Given the description of an element on the screen output the (x, y) to click on. 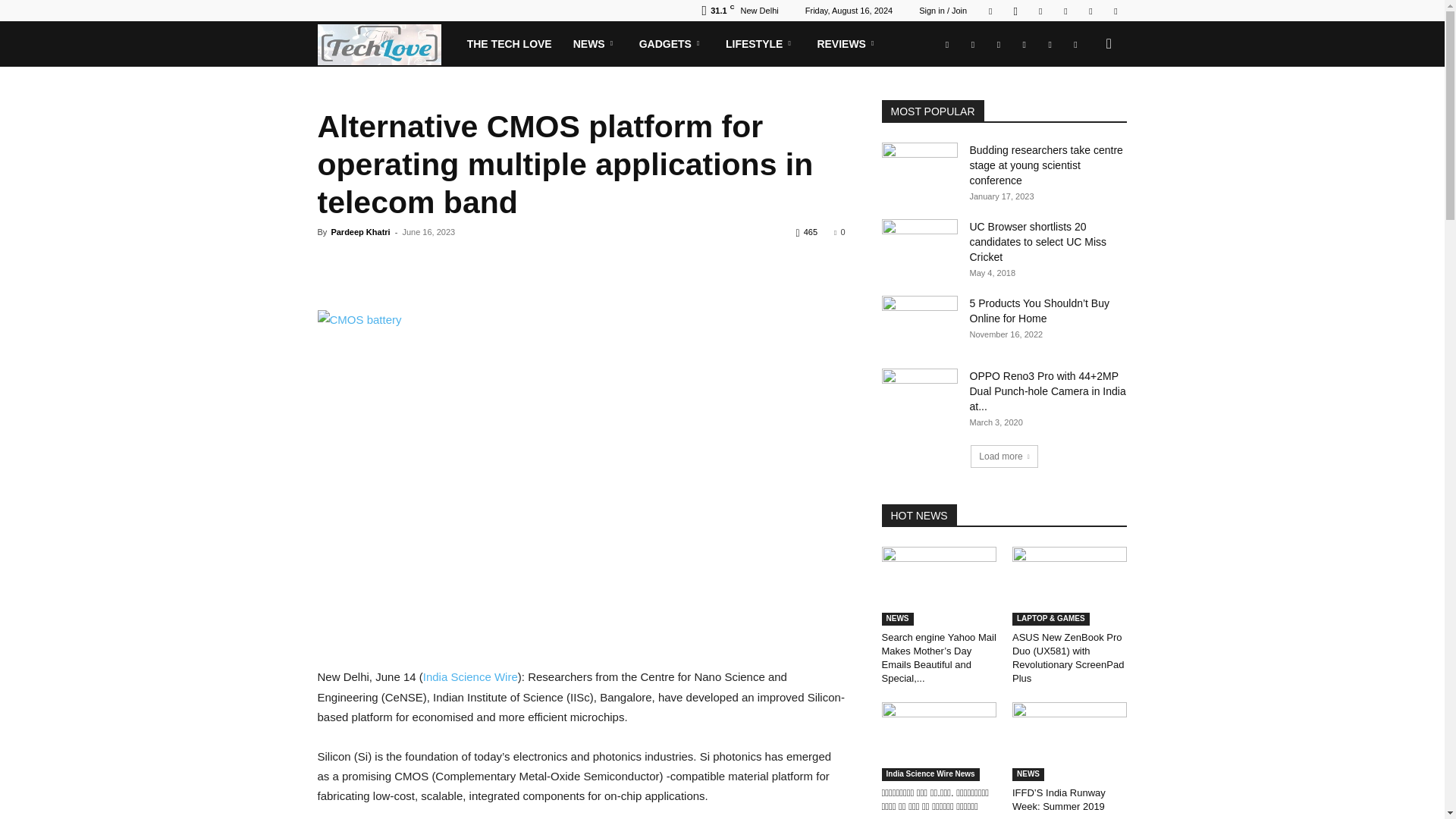
The Tech Love (386, 44)
VKontakte (1090, 10)
THE TECH LOVE (509, 43)
Twitter (1040, 10)
NEWS (595, 43)
Instagram (1015, 10)
Vimeo (1065, 10)
Youtube (1114, 10)
Facebook (989, 10)
